Given the description of an element on the screen output the (x, y) to click on. 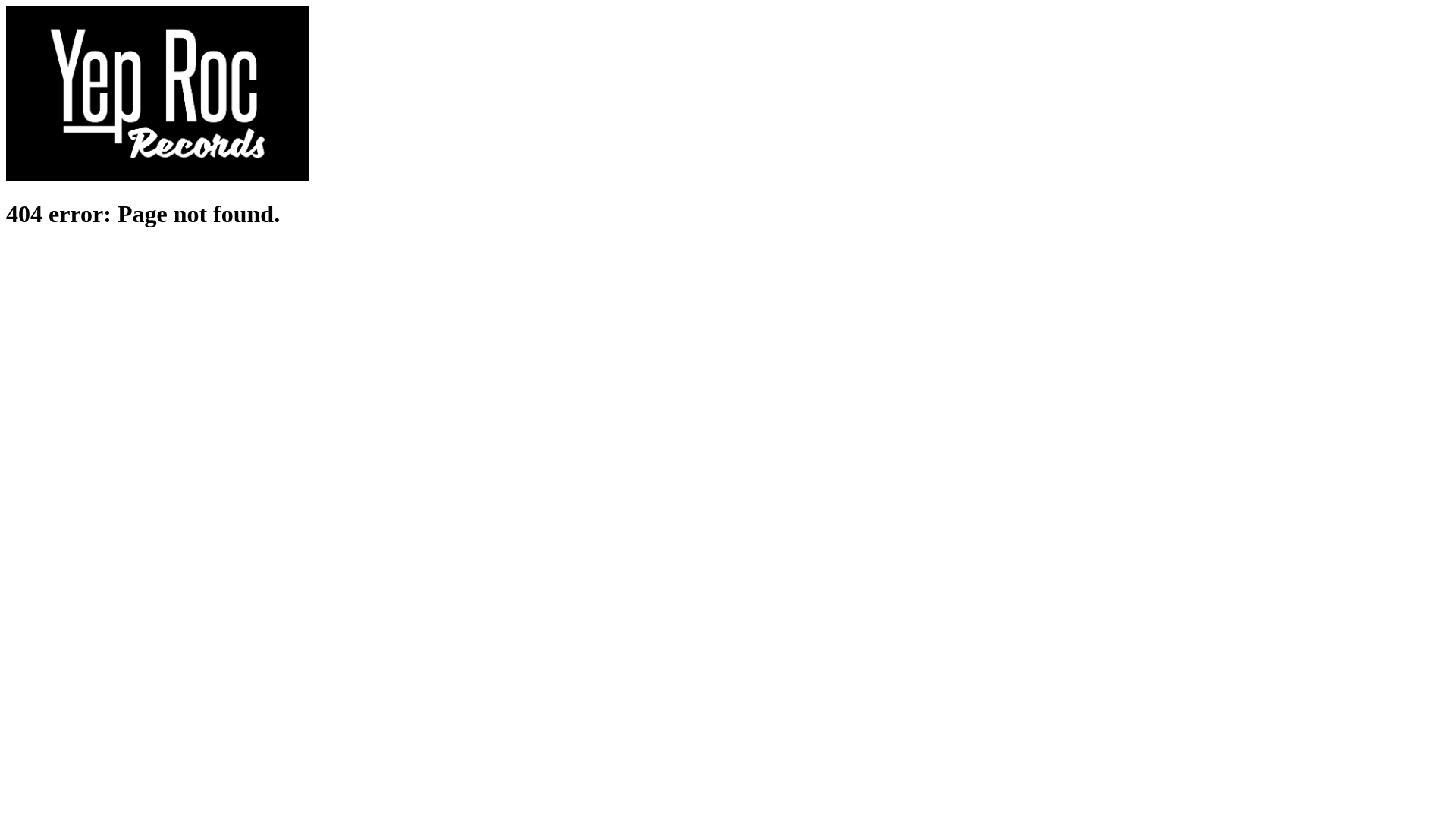
Yep Roc Records Element type: hover (157, 176)
